Given the description of an element on the screen output the (x, y) to click on. 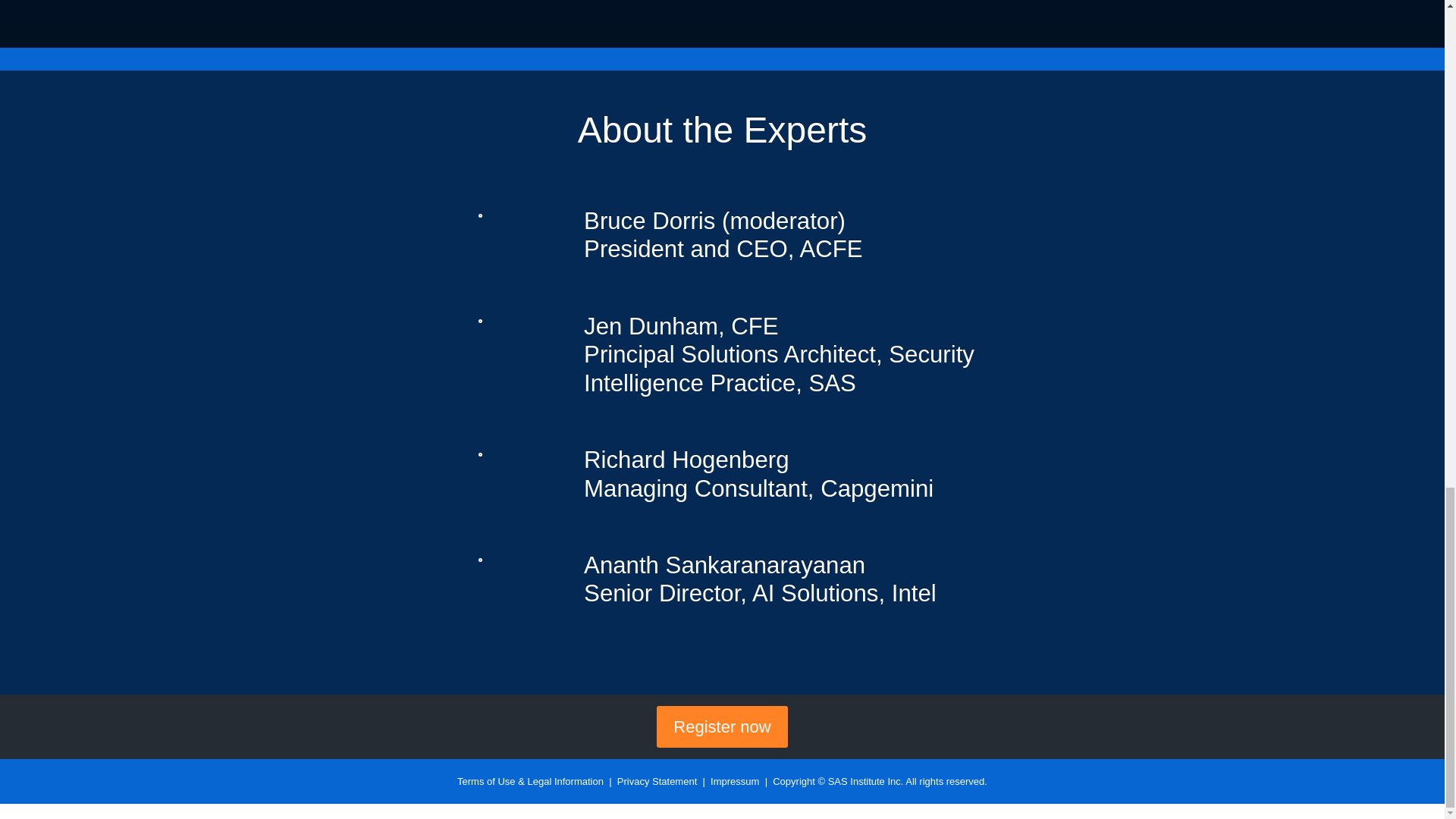
Register now (721, 727)
Privacy Statement (657, 781)
Impressum (734, 781)
